Given the description of an element on the screen output the (x, y) to click on. 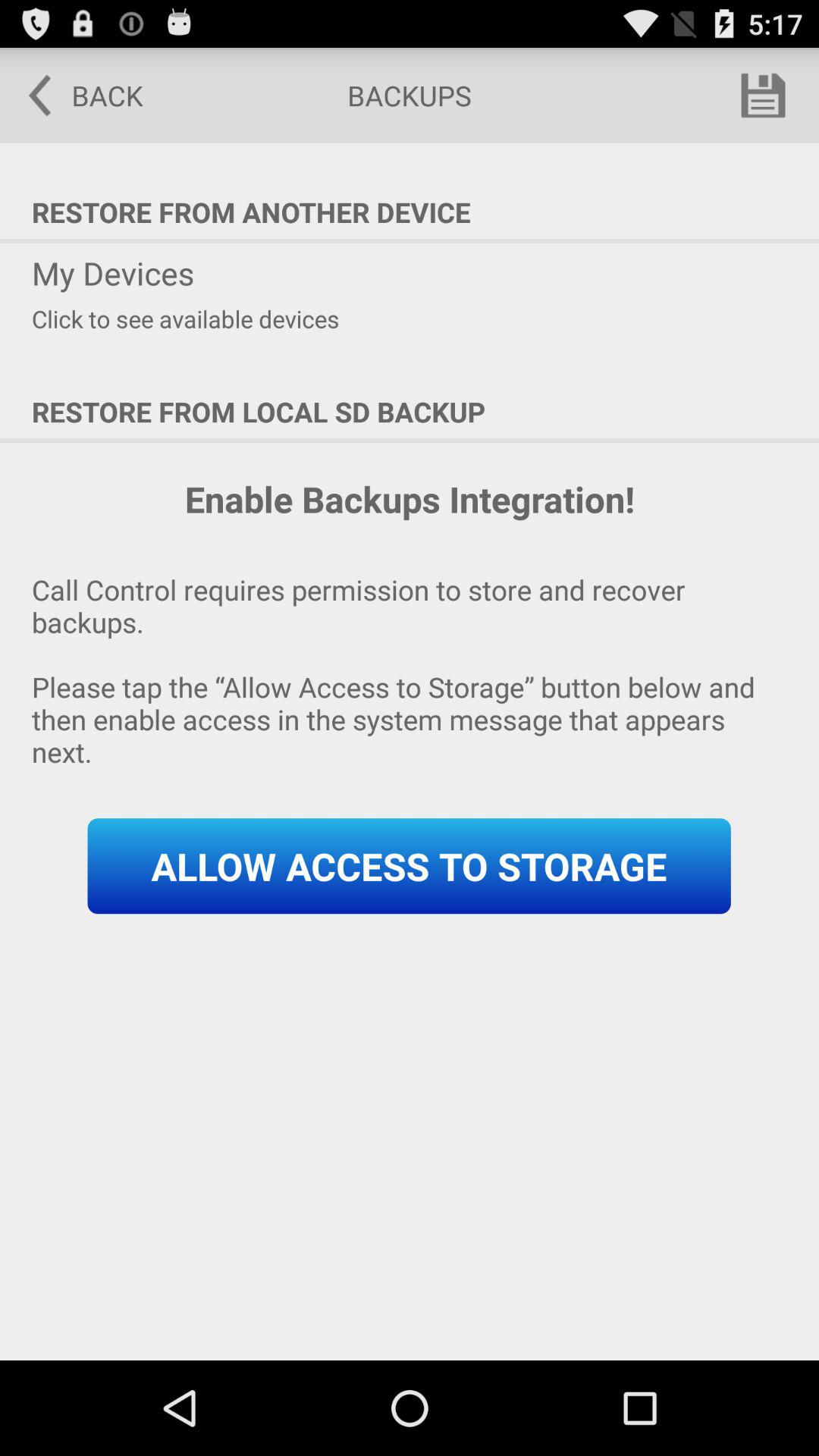
save the current data for backup (763, 95)
